Given the description of an element on the screen output the (x, y) to click on. 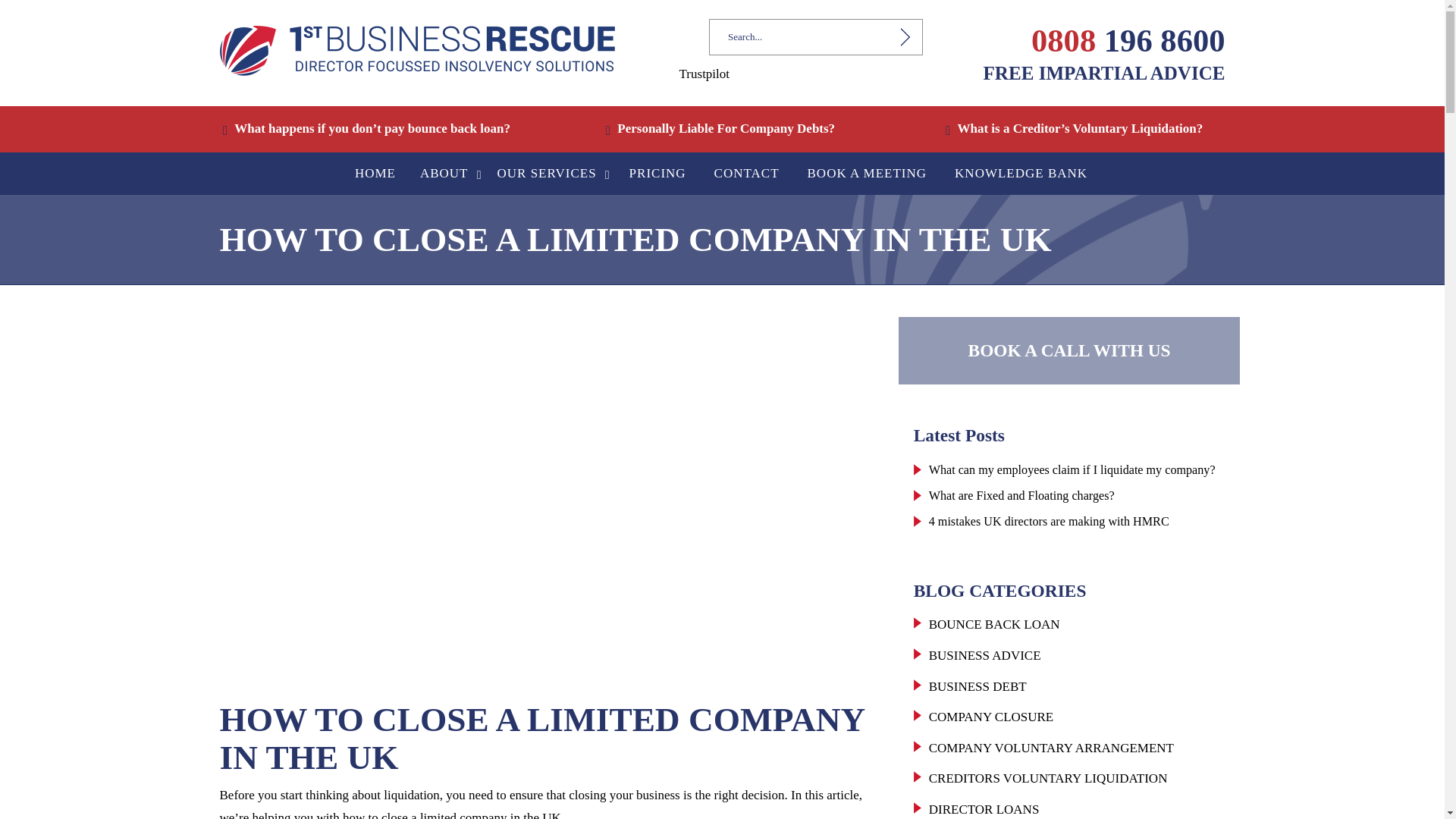
Personally Liable For Company Debts? (722, 128)
search (894, 36)
What are Fixed and Floating charges? (1021, 495)
1st Business Rescue (416, 50)
Search... (798, 36)
CONTACT (746, 173)
KNOWLEDGE BANK (1020, 173)
1st Business Rescue (416, 50)
HOME (374, 173)
Trustpilot (704, 73)
search (894, 36)
PRICING (657, 173)
0808 196 8600 (1127, 40)
ABOUT (448, 173)
What can my employees claim if I liquidate my company? (1071, 469)
